Given the description of an element on the screen output the (x, y) to click on. 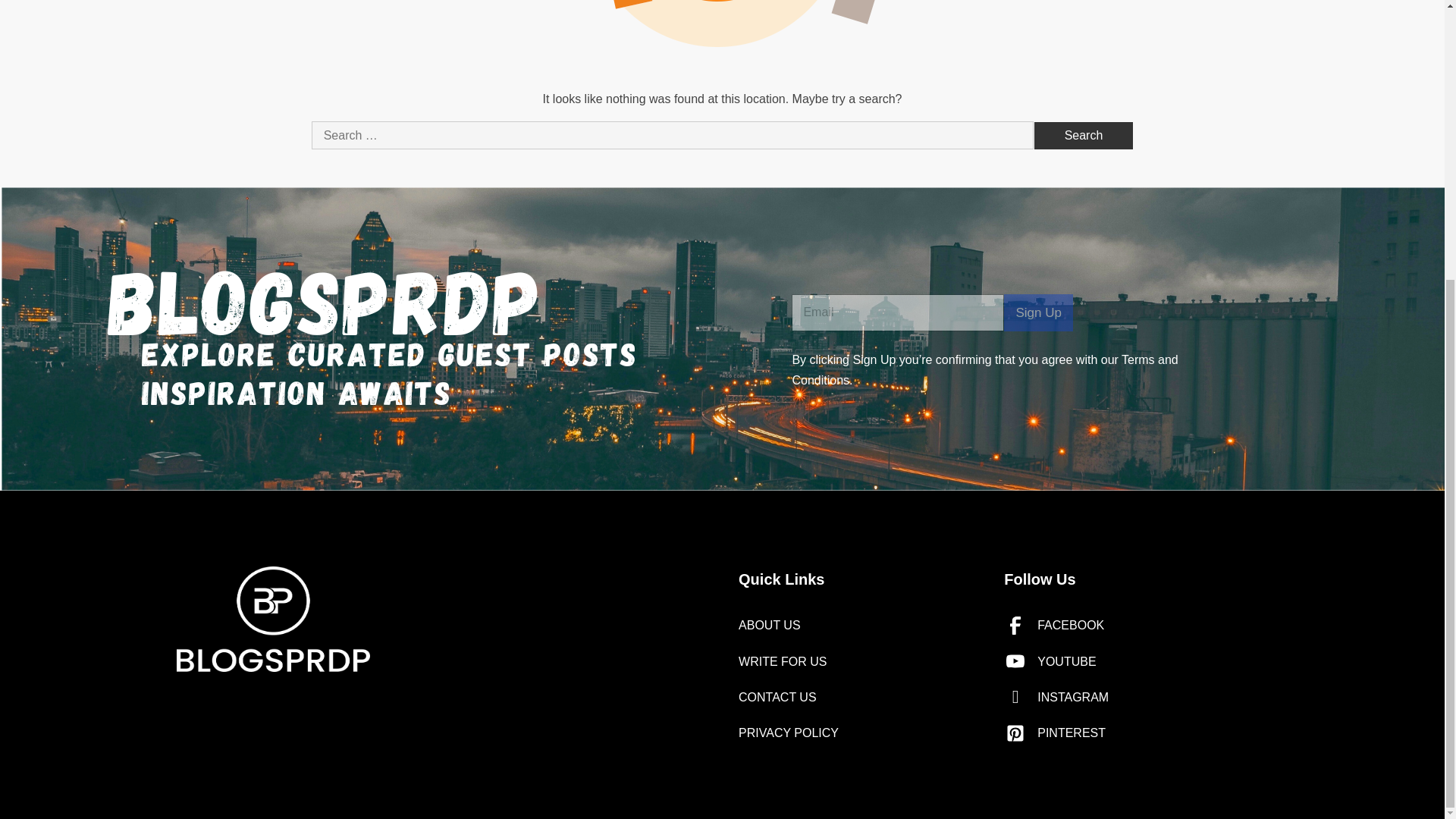
PINTEREST (1136, 732)
FACEBOOK (1136, 625)
PRIVACY POLICY (859, 732)
Search (1083, 135)
CONTACT US (859, 697)
WRITE FOR US (859, 661)
Sign Up (1037, 312)
Search (1083, 135)
Search (1083, 135)
ABOUT US (859, 625)
